Given the description of an element on the screen output the (x, y) to click on. 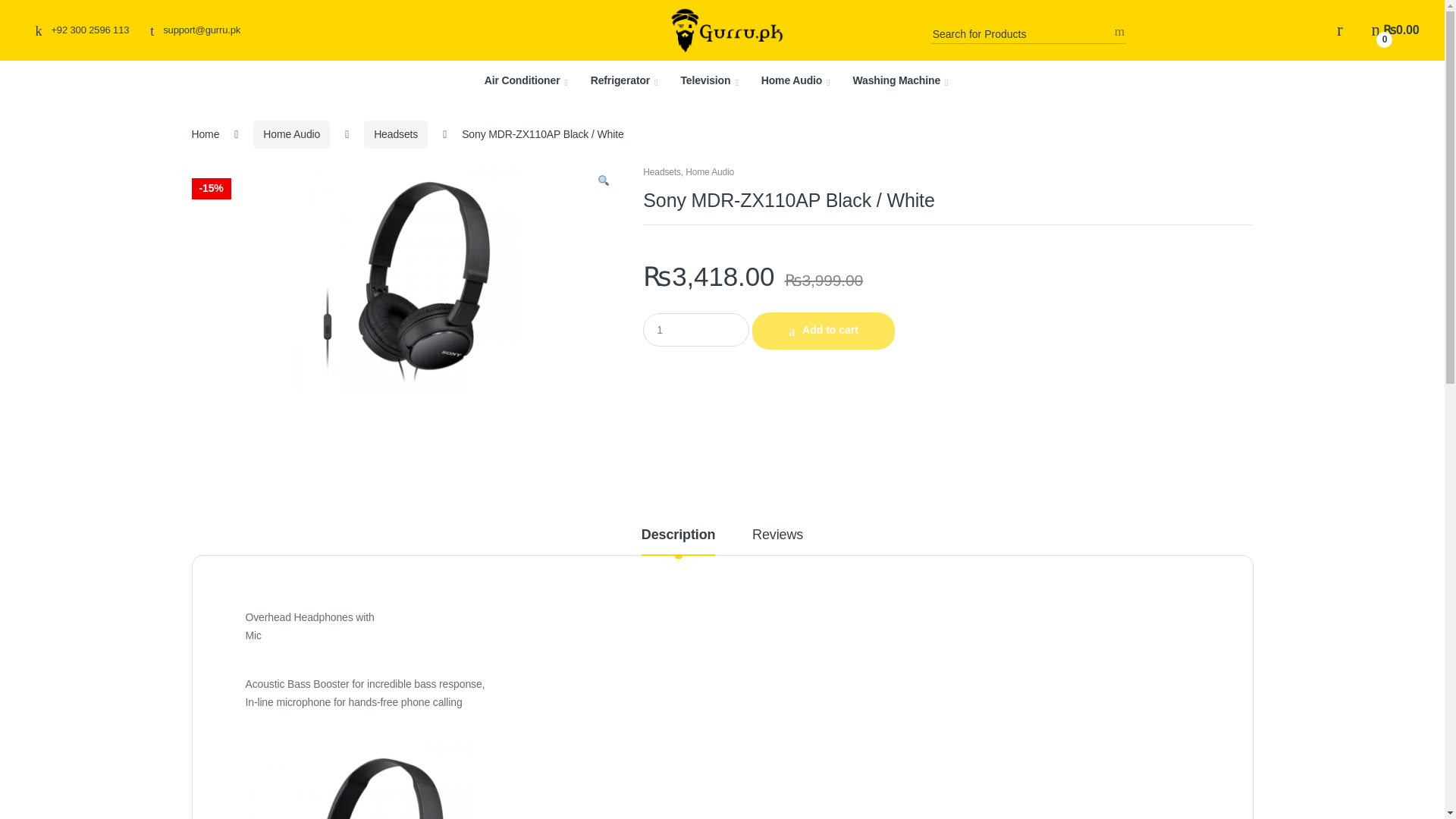
Washing Machine (899, 80)
Home Audio (795, 80)
Television (708, 80)
Television (708, 80)
Refrigerator (624, 80)
Air Conditioner (525, 80)
Refrigerator (624, 80)
Air Conditioner (525, 80)
1 (696, 329)
